Given the description of an element on the screen output the (x, y) to click on. 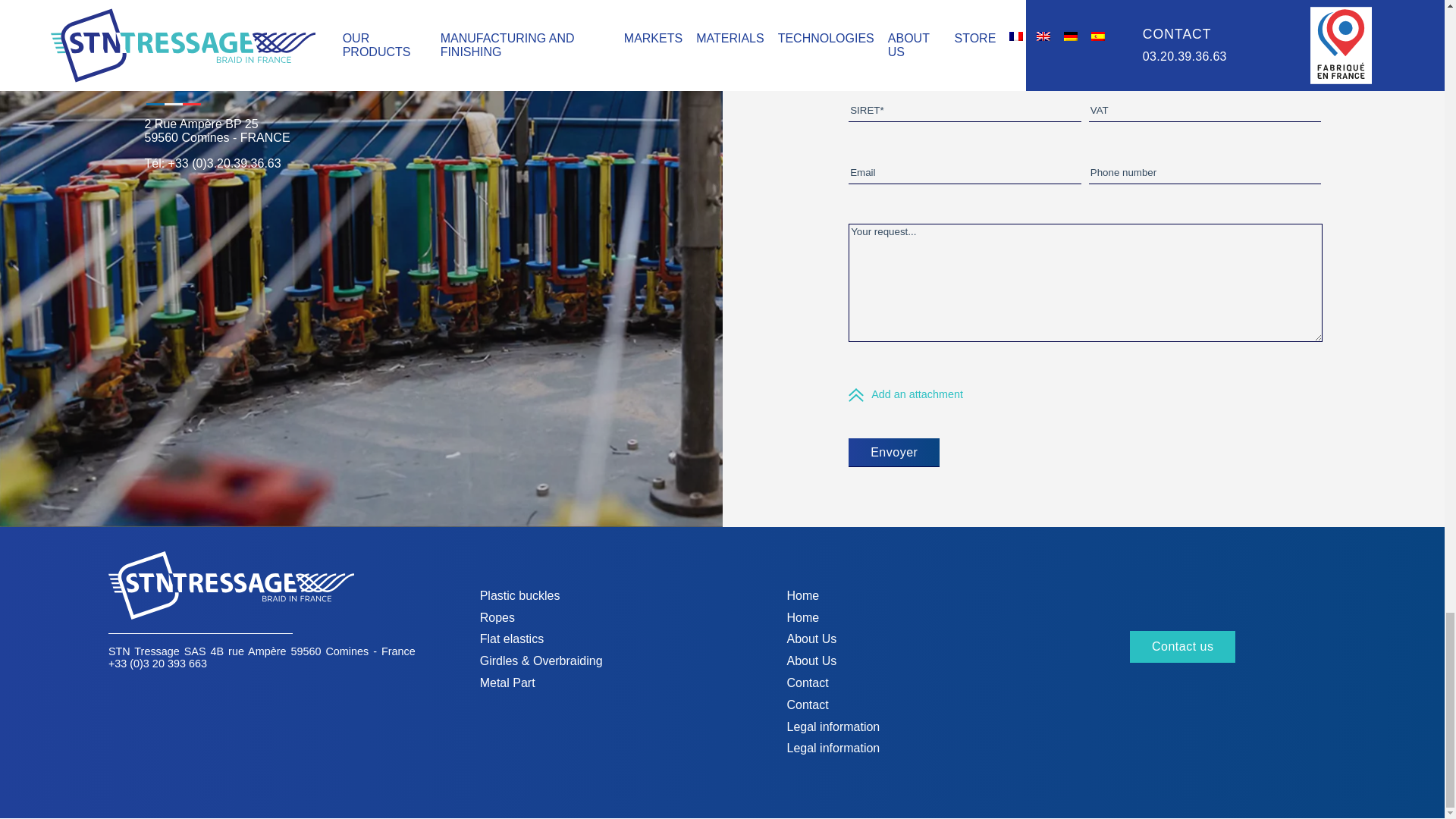
Envoyer (893, 452)
